Given the description of an element on the screen output the (x, y) to click on. 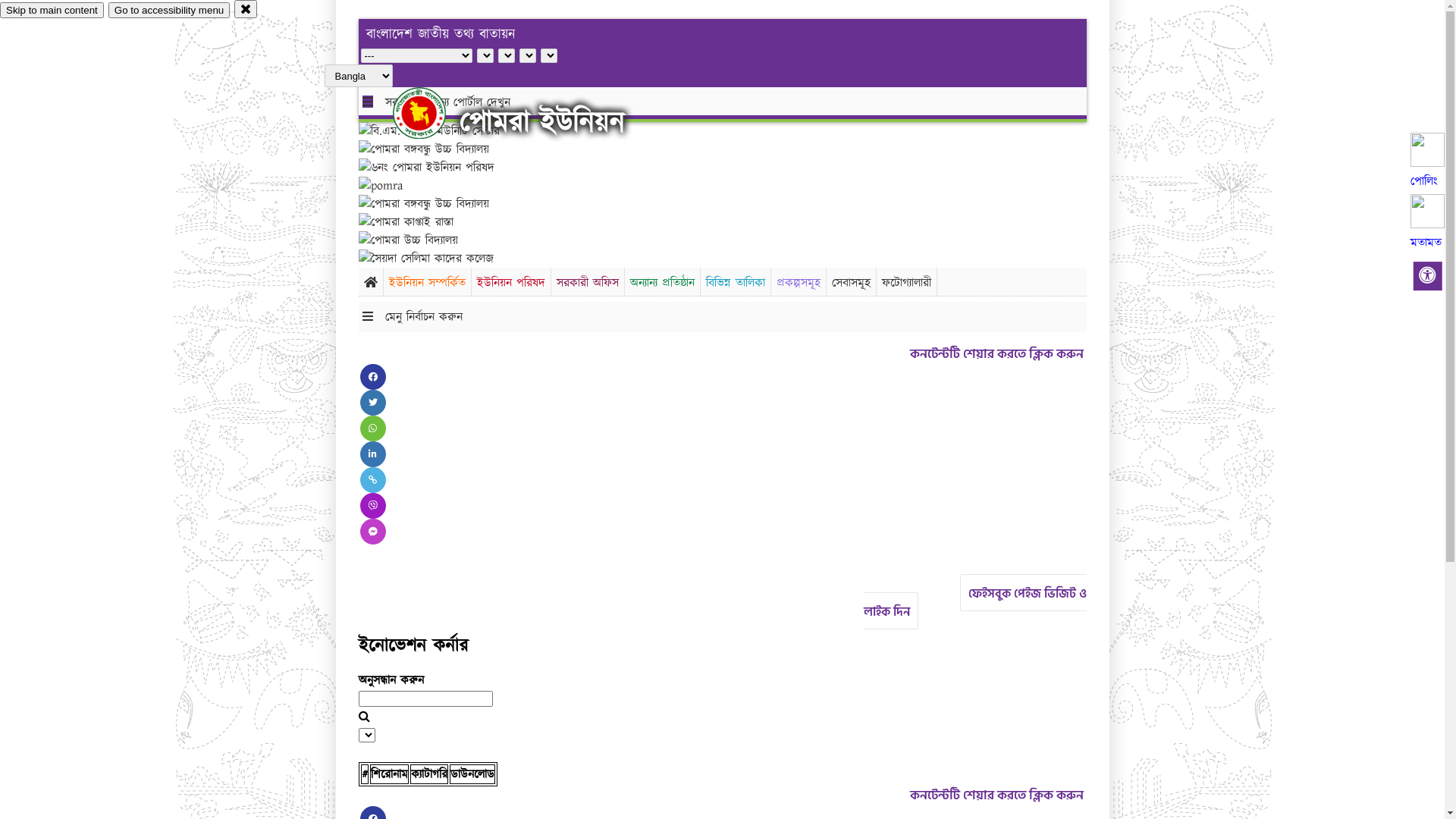
close Element type: hover (245, 9)

                
             Element type: hover (431, 112)
Skip to main content Element type: text (51, 10)
Go to accessibility menu Element type: text (168, 10)
